Given the description of an element on the screen output the (x, y) to click on. 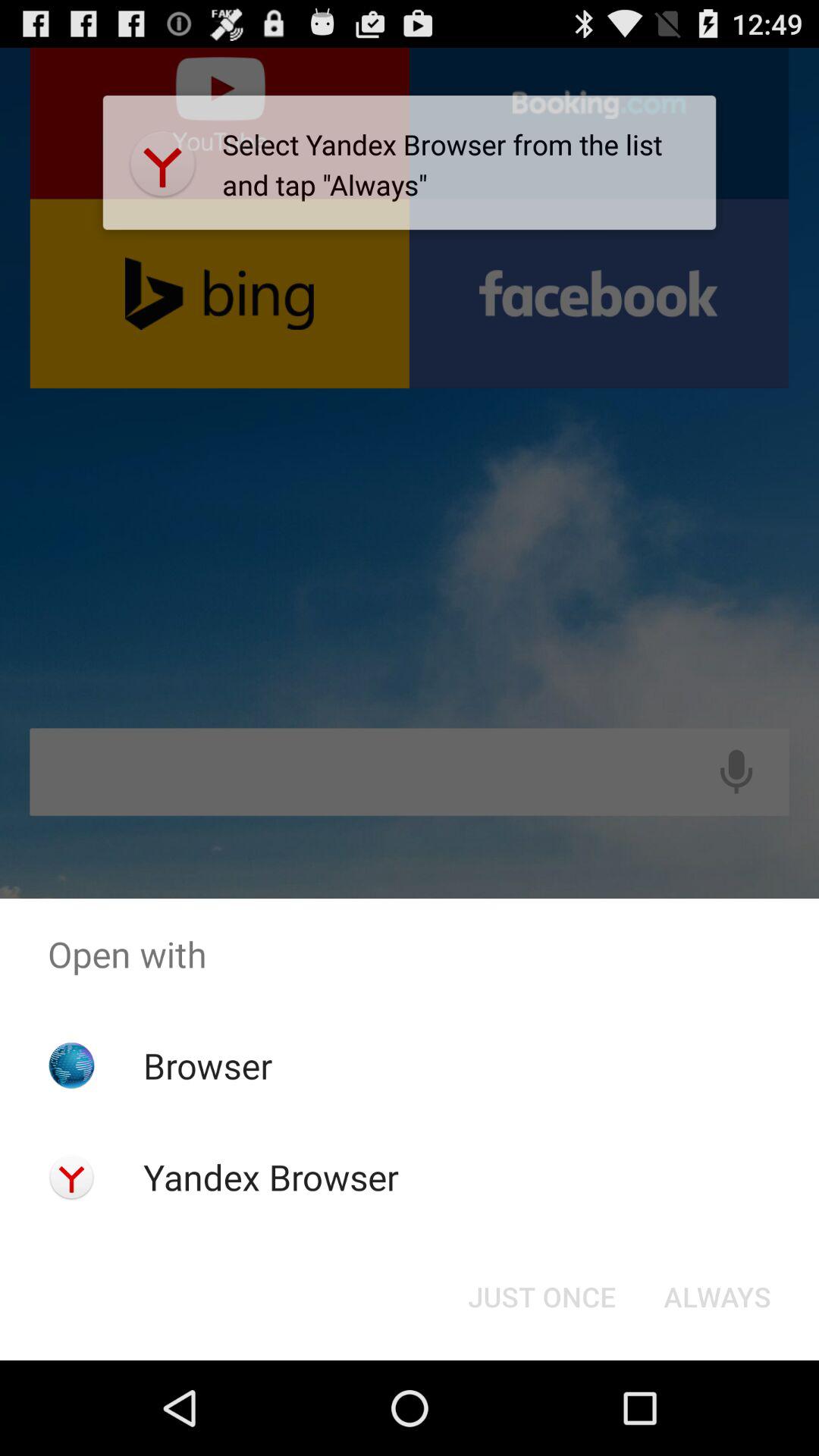
turn off item below the open with icon (717, 1296)
